Given the description of an element on the screen output the (x, y) to click on. 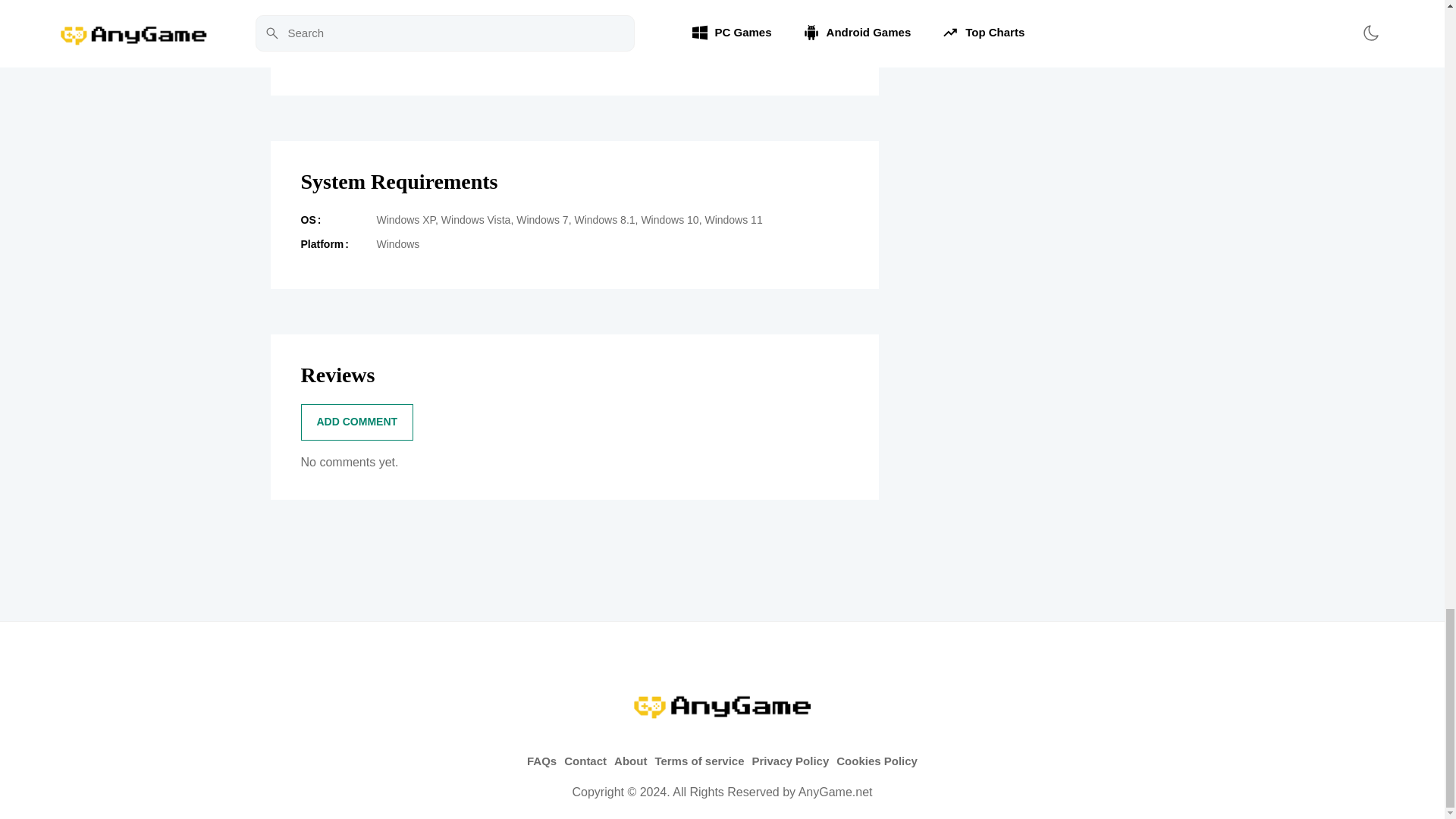
ADD COMMENT (356, 422)
